Given the description of an element on the screen output the (x, y) to click on. 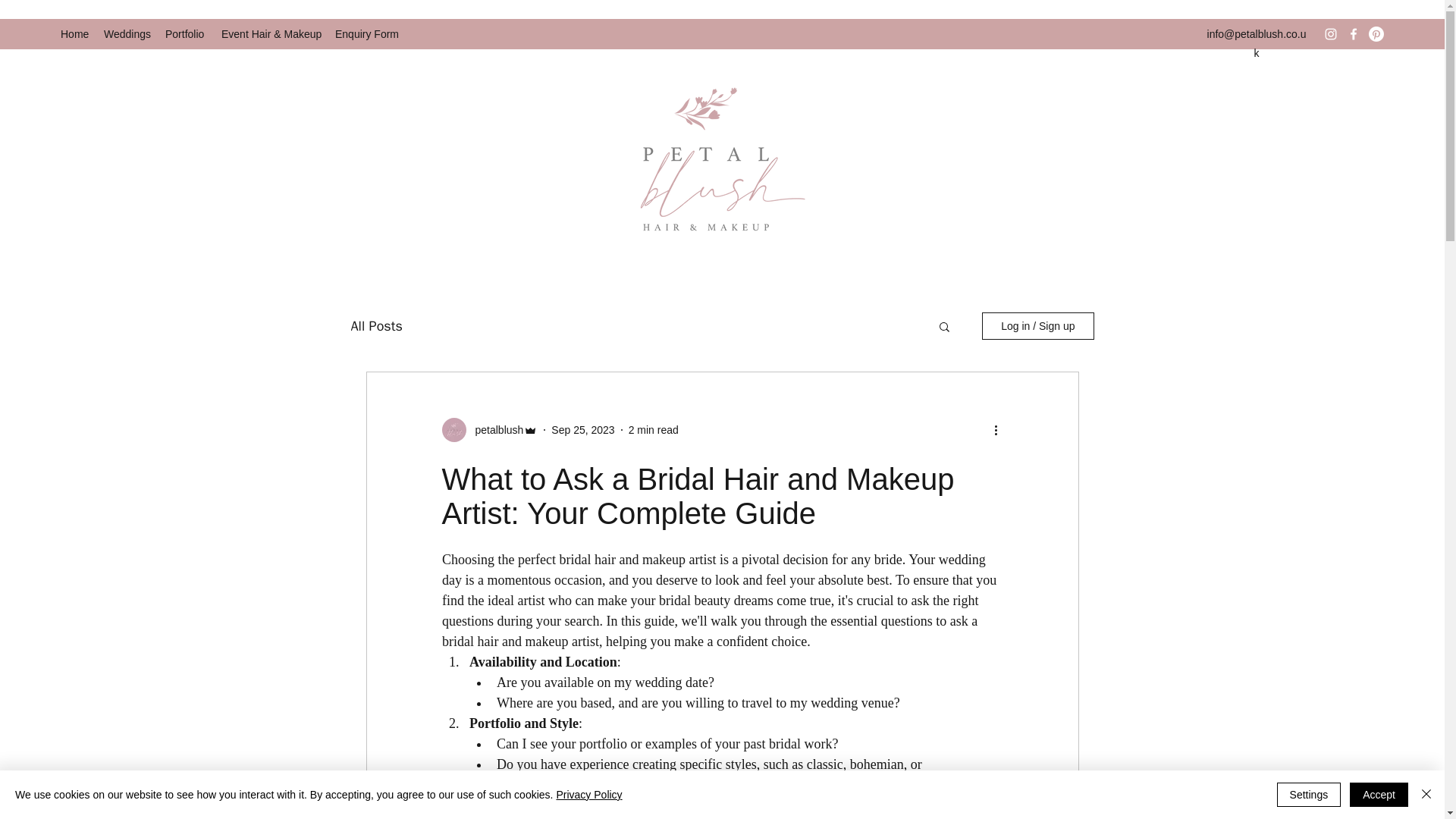
2 min read (653, 429)
Sep 25, 2023 (582, 429)
Portfolio (185, 33)
Home (74, 33)
petalblush (493, 430)
Enquiry Form (366, 33)
Weddings (126, 33)
All Posts (375, 325)
